Given the description of an element on the screen output the (x, y) to click on. 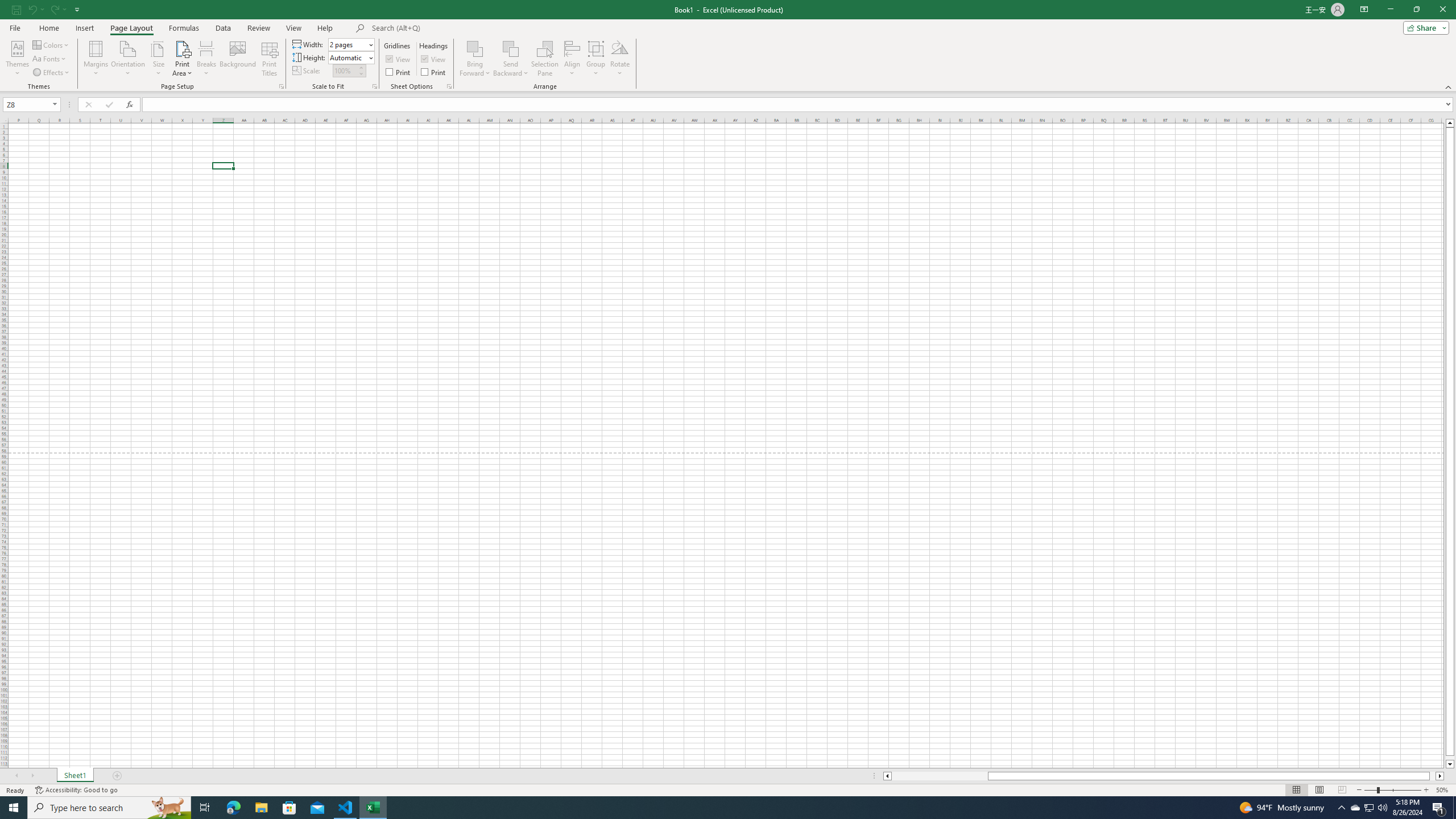
Selection Pane... (544, 58)
Rotate (619, 58)
Orientation (128, 58)
Page Setup (374, 85)
Align (571, 58)
Print Area (182, 58)
Height (350, 56)
